Given the description of an element on the screen output the (x, y) to click on. 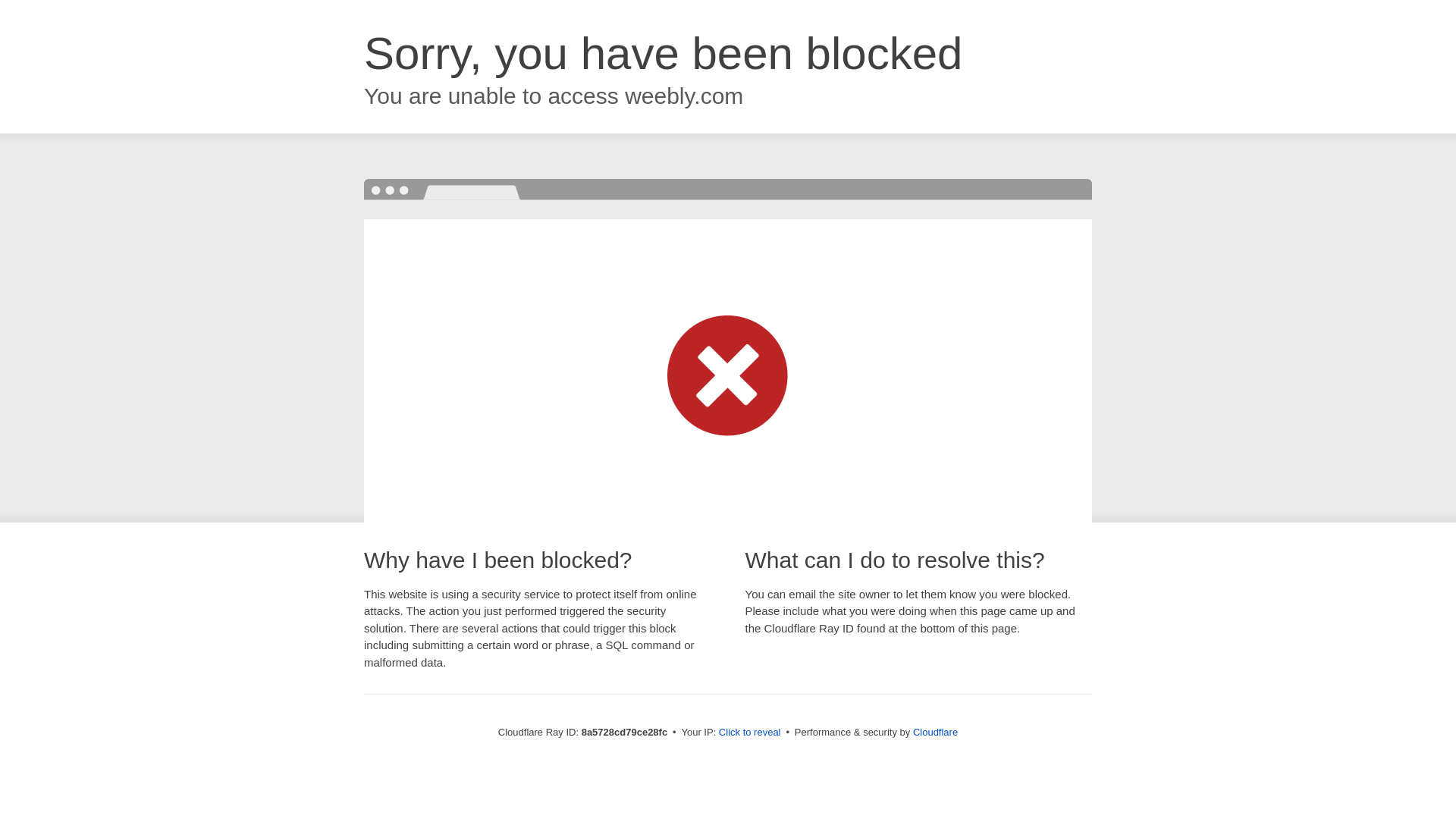
Cloudflare (935, 731)
Click to reveal (749, 732)
